Given the description of an element on the screen output the (x, y) to click on. 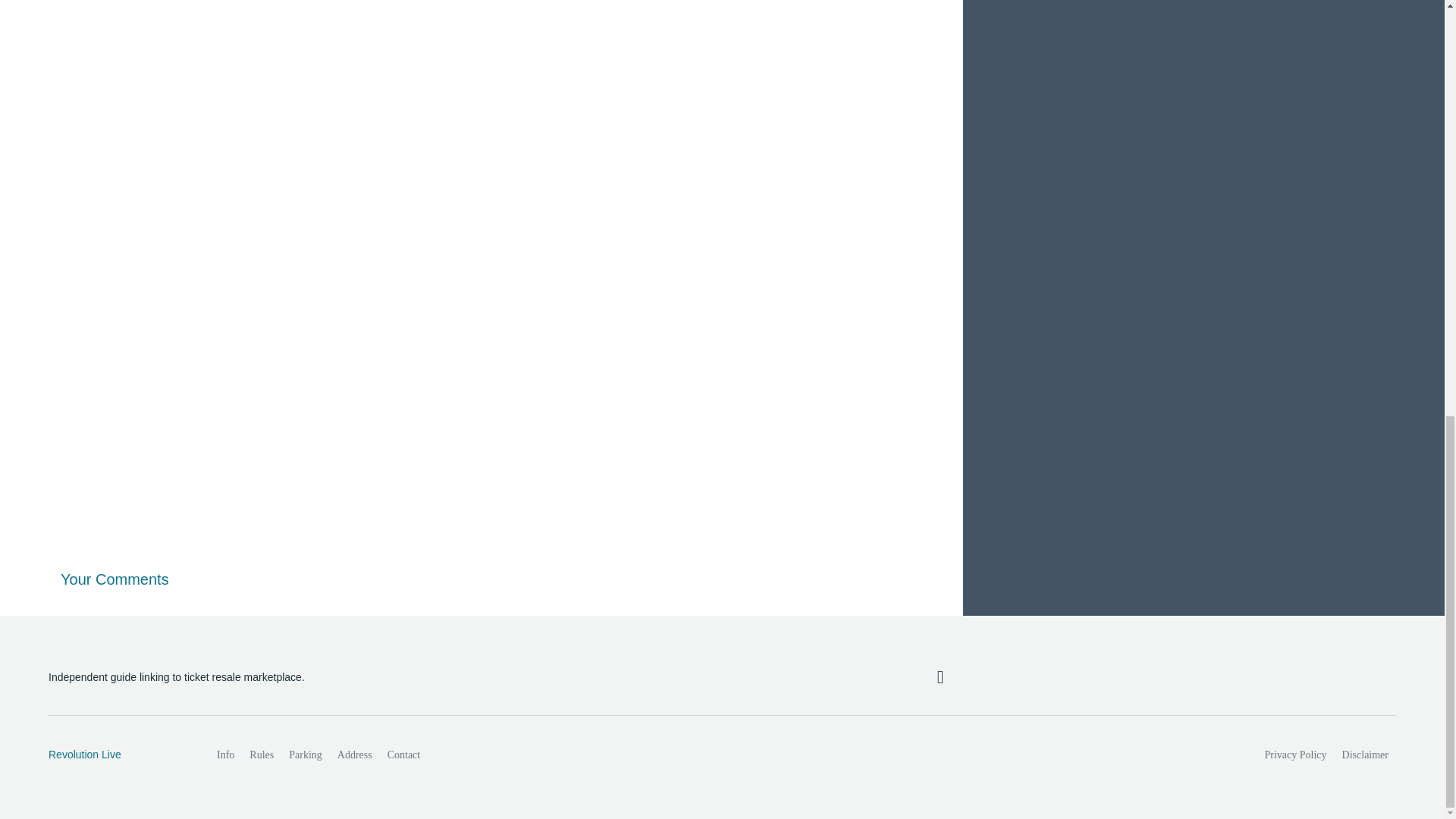
Contact (404, 755)
Revolution Live (116, 754)
Address (355, 755)
Rules (261, 755)
Disclaimer (1365, 755)
Privacy Policy (1296, 755)
Parking (305, 755)
Info (225, 755)
